Given the description of an element on the screen output the (x, y) to click on. 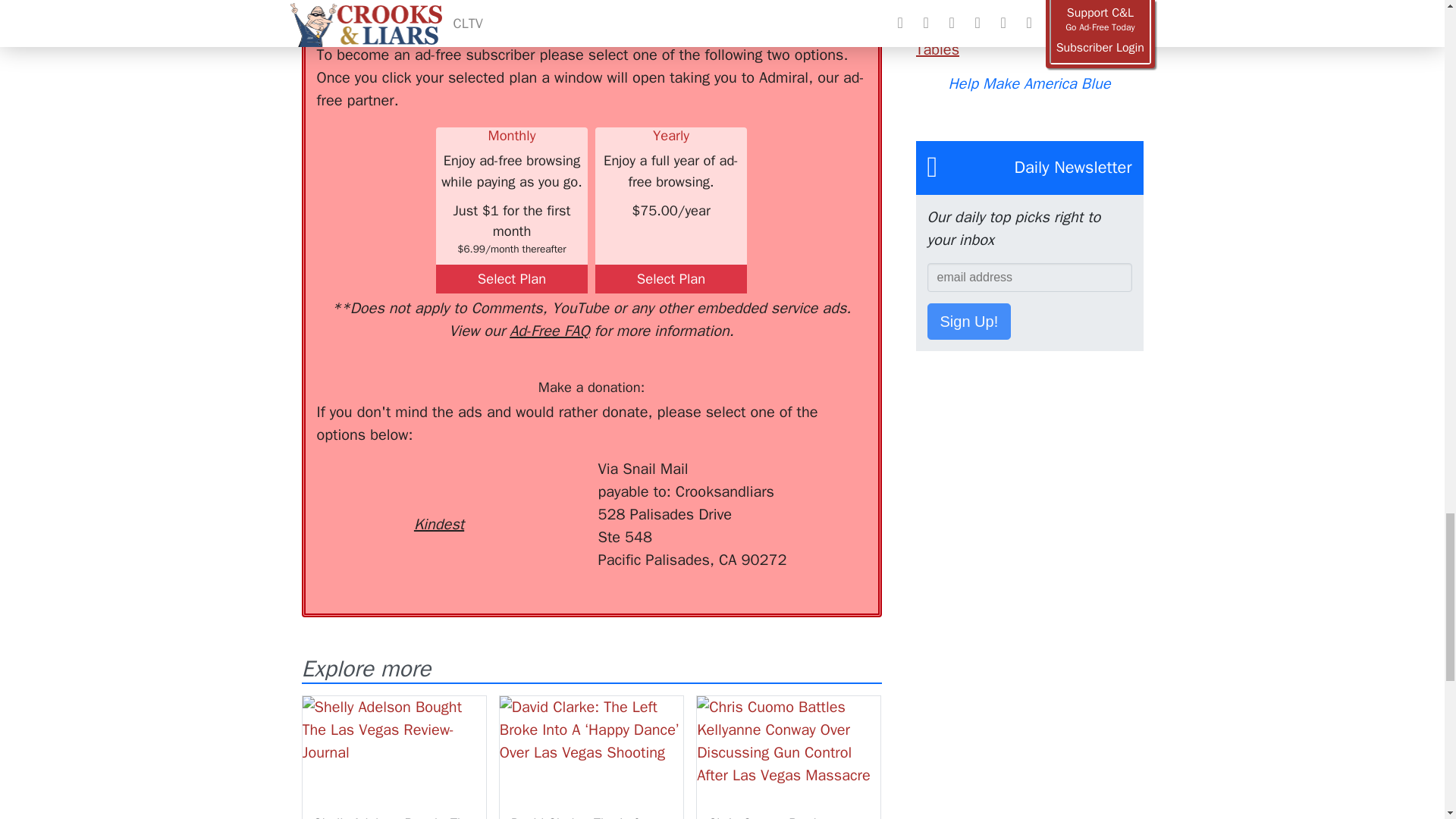
Shelly Adelson Bought The Las Vegas Review-Journal (392, 816)
Kindest (438, 496)
Donate via Kindest (438, 496)
Ad-Free FAQ (549, 330)
Shelly Adelson Bought The Las Vegas Review-Journal (392, 747)
Donate via PayPal (540, 485)
